Given the description of an element on the screen output the (x, y) to click on. 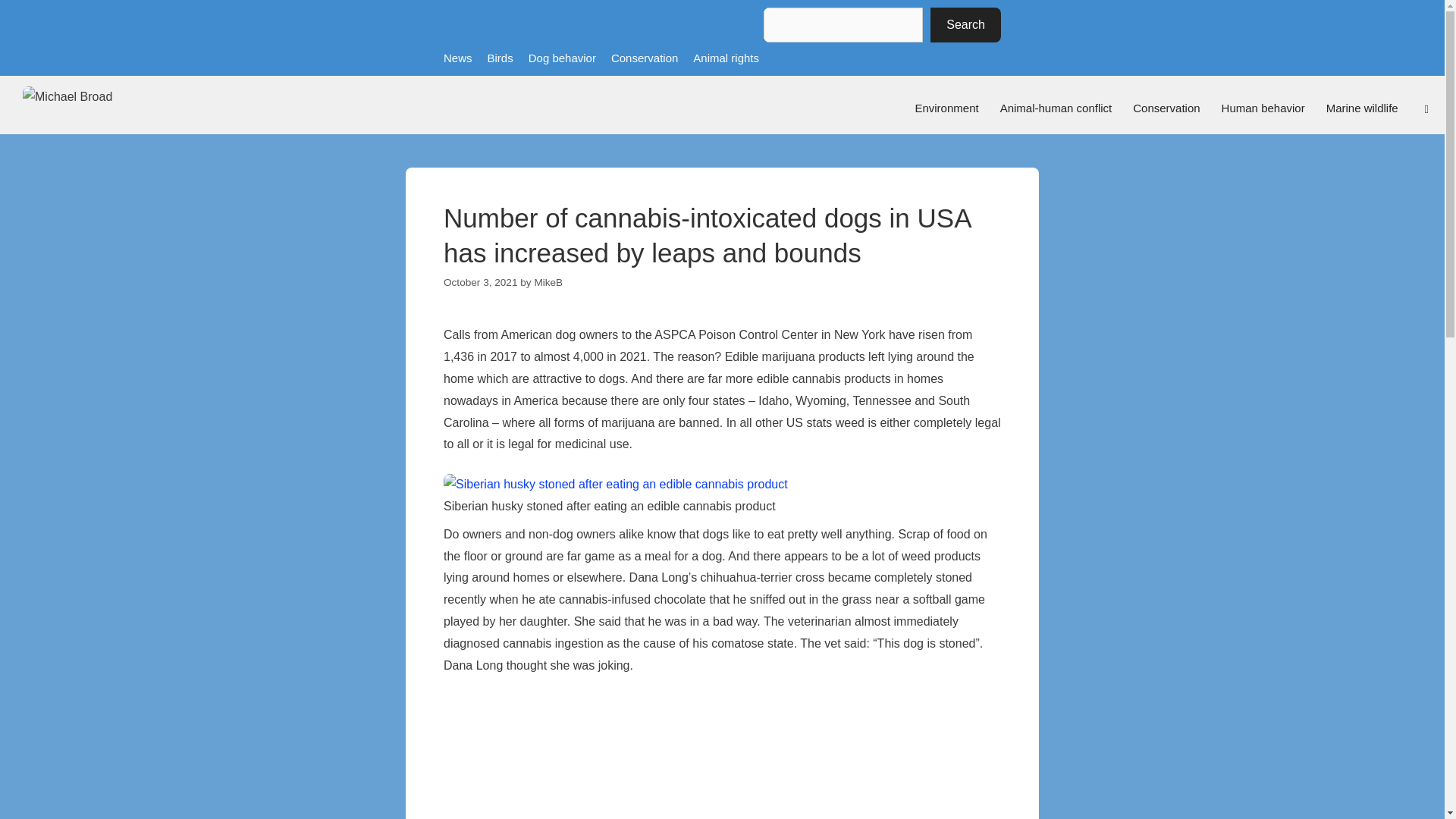
Search (965, 24)
Animal-human conflict (1056, 108)
Dog behavior (561, 57)
Siberian Husky Dog Eats Marijuana Edible (722, 756)
View all posts by MikeB (548, 282)
News (457, 57)
Conservation (1165, 108)
Environment (946, 108)
Marine wildlife (1362, 108)
MikeB (548, 282)
